Given the description of an element on the screen output the (x, y) to click on. 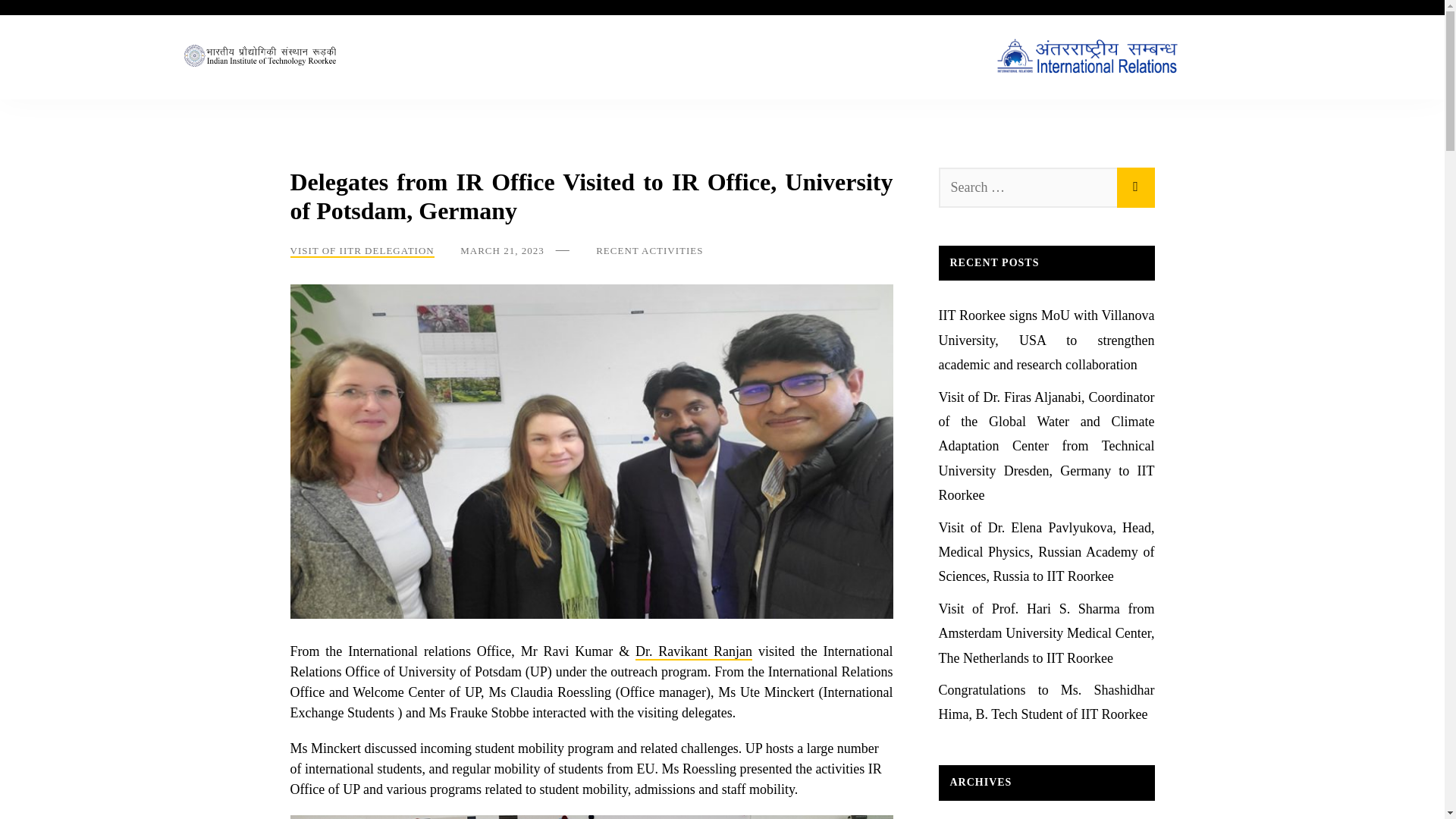
Dr. Ravikant Ranjan (693, 651)
VISIT OF IITR DELEGATION (361, 250)
RECENT ACTIVITIES (649, 250)
MARCH 21, 2023 (501, 250)
Search (1135, 186)
Search (1135, 186)
